Given the description of an element on the screen output the (x, y) to click on. 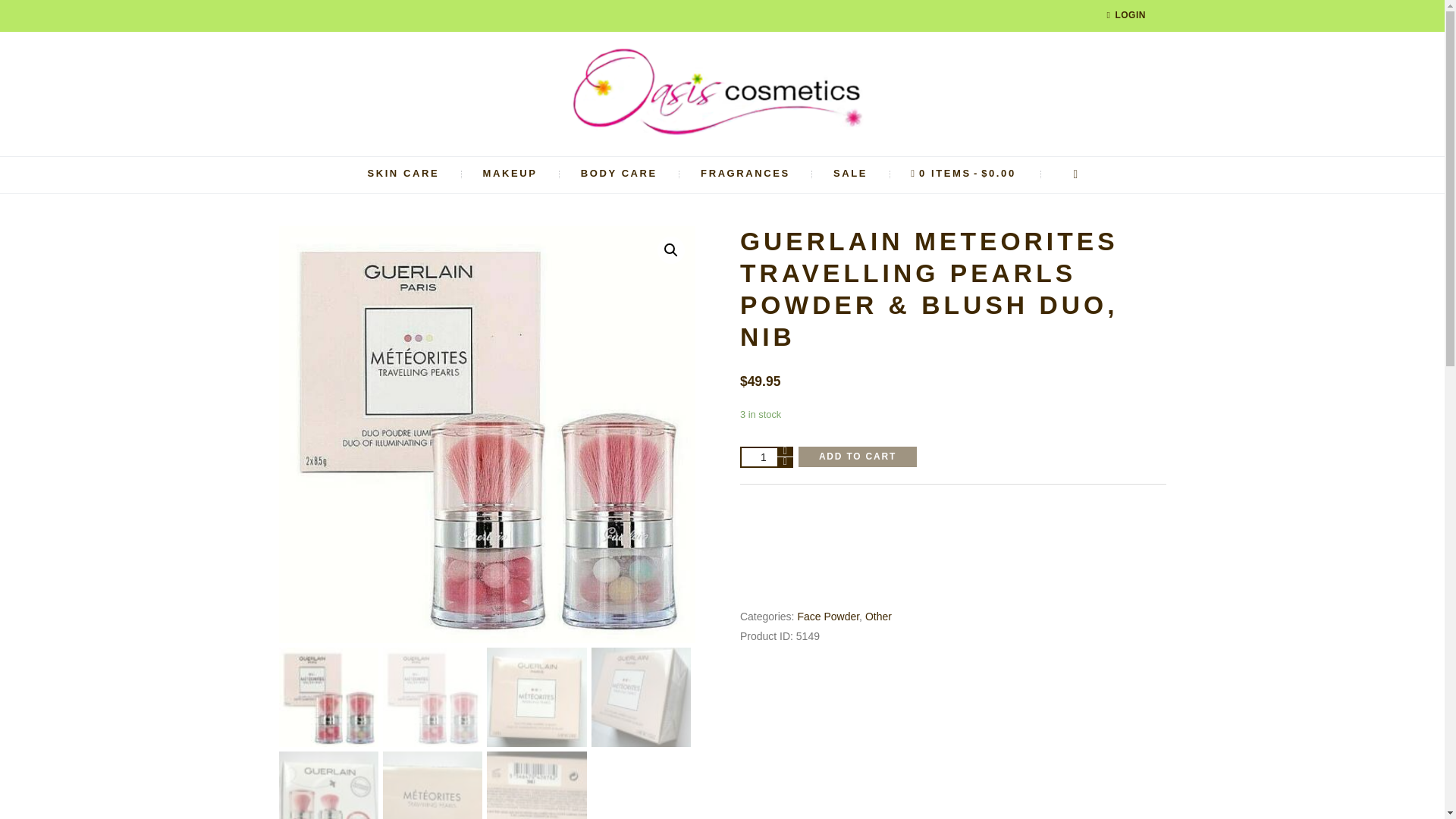
BODY CARE (618, 175)
Qty (766, 456)
1 (766, 456)
Face Powder (827, 616)
Start shopping (963, 175)
PayPal (952, 585)
FRAGRANCES (744, 175)
SKIN CARE (403, 175)
LOGIN (1125, 15)
PayPal (952, 538)
ADD TO CART (857, 456)
MAKEUP (510, 175)
SALE (849, 175)
